Given the description of an element on the screen output the (x, y) to click on. 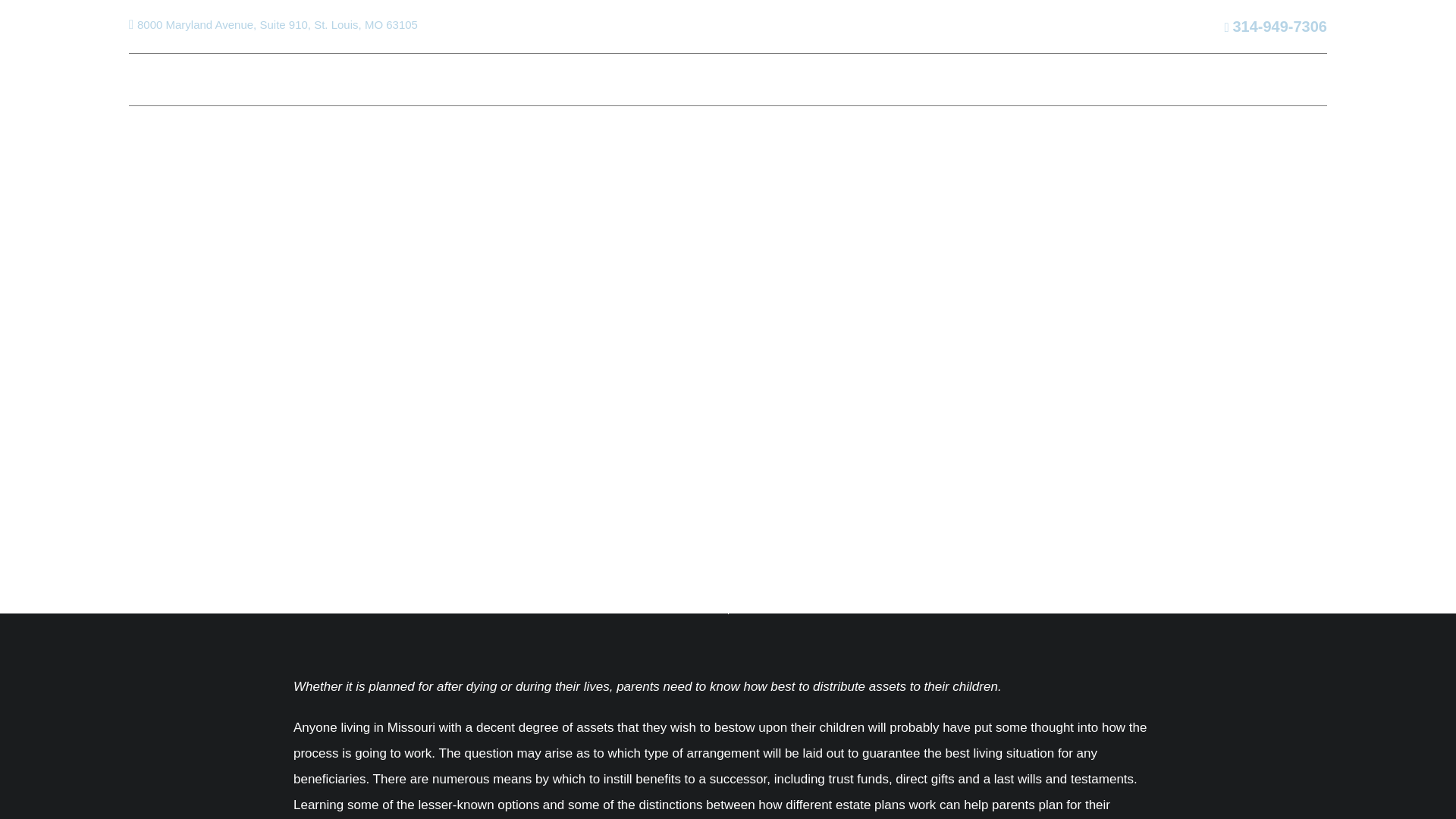
HOME (148, 79)
CONTACT (1103, 79)
ARTICLES (865, 79)
314-949-7306 (1275, 27)
PRACTICE AREAS (358, 79)
ABOUT (234, 79)
REPRESENTATIVE CASES (540, 79)
BLOG (929, 79)
TESTIMONIALS (1010, 79)
